Given the description of an element on the screen output the (x, y) to click on. 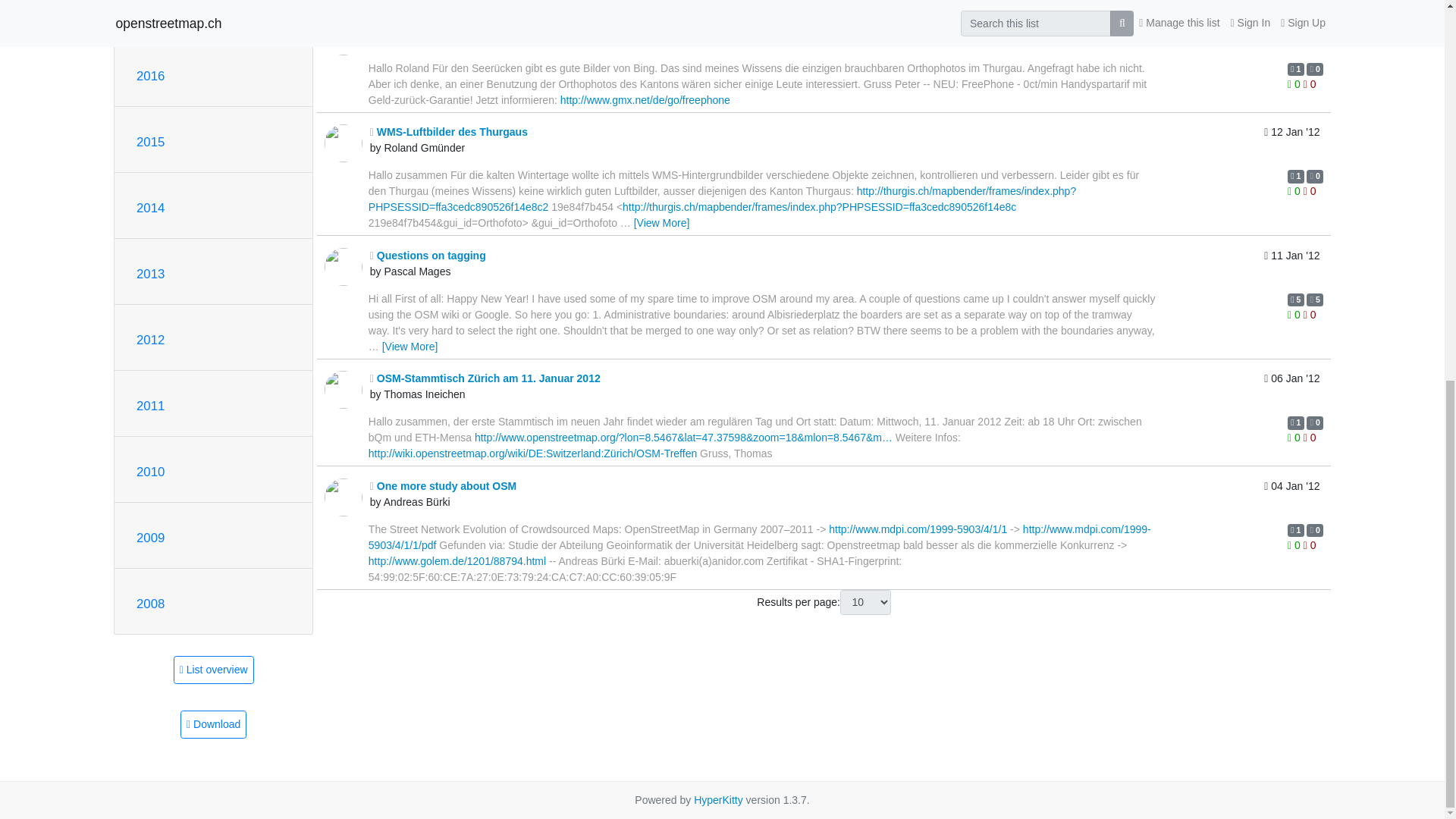
This month in gzipped mbox format (213, 724)
